Given the description of an element on the screen output the (x, y) to click on. 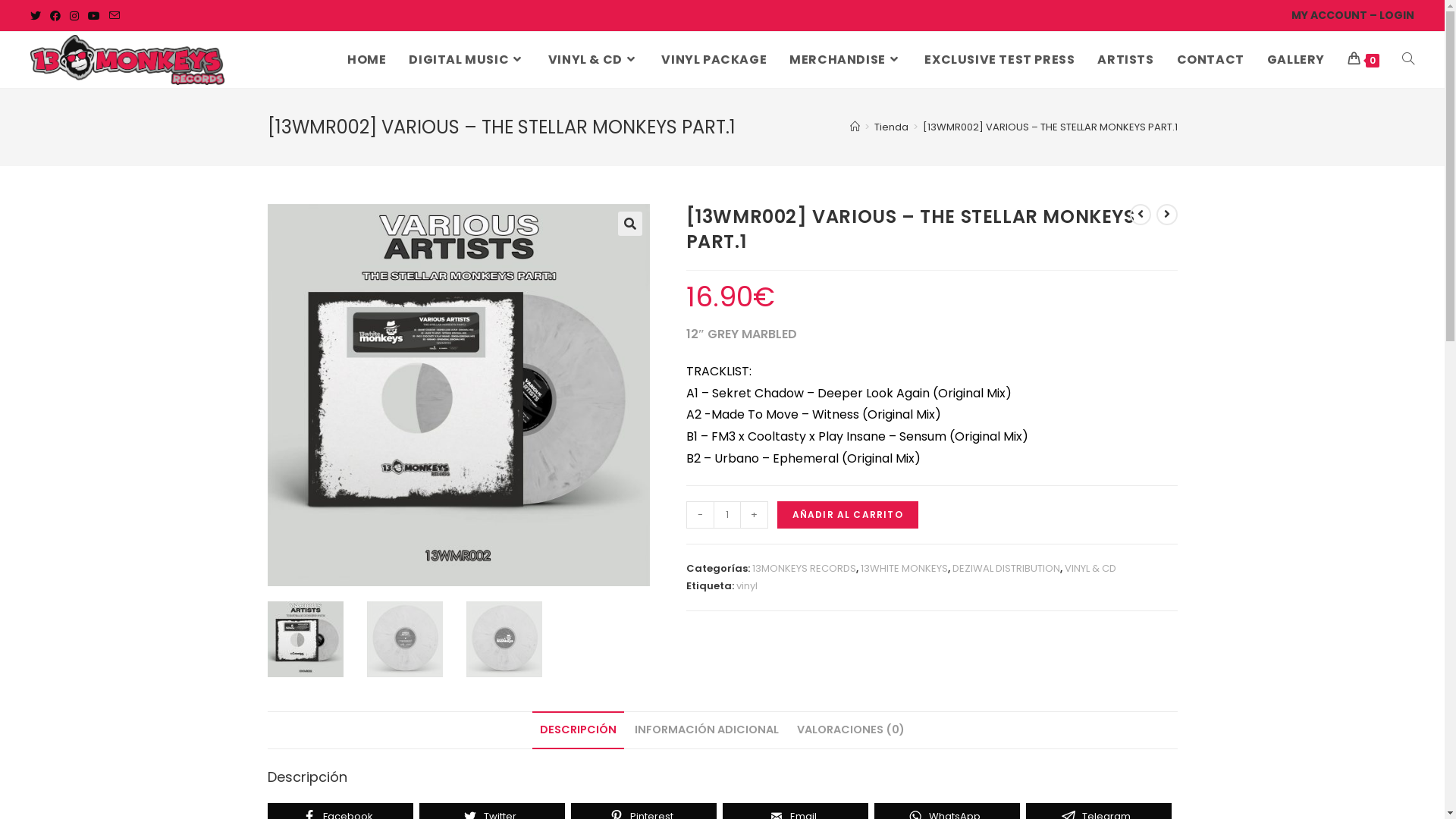
13MONKEYS RECORDS Element type: text (804, 568)
GALLERY Element type: text (1295, 59)
DIGITAL MUSIC Element type: text (466, 59)
VINYL & CD Element type: text (593, 59)
+ Element type: text (753, 514)
DEZIWAL DISTRIBUTION Element type: text (1006, 568)
Tienda Element type: text (890, 126)
ARTISTS Element type: text (1124, 59)
0 Element type: text (1363, 59)
MERCHANDISE Element type: text (845, 59)
EXCLUSIVE TEST PRESS Element type: text (999, 59)
3355 Element type: text (1084, 24)
13WHITE MONKEYS Element type: text (903, 568)
CONTACT Element type: text (1210, 59)
VINYL PACKAGE Element type: text (713, 59)
VALORACIONES (0) Element type: text (850, 730)
vinyl Element type: text (745, 585)
HOME Element type: text (366, 59)
13WMR002 MOCKUP Element type: hover (457, 394)
VINYL & CD Element type: text (1090, 568)
- Element type: text (698, 514)
